Given the description of an element on the screen output the (x, y) to click on. 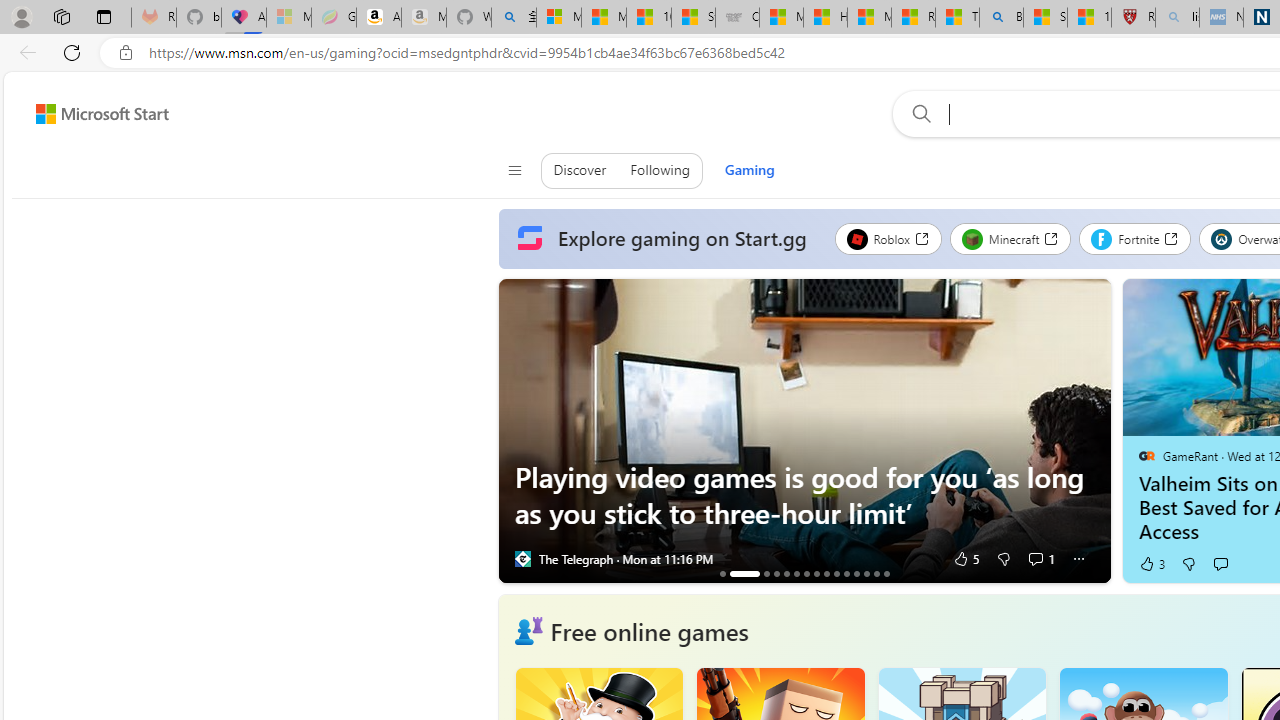
Bing (1001, 17)
Combat Siege (737, 17)
